Given the description of an element on the screen output the (x, y) to click on. 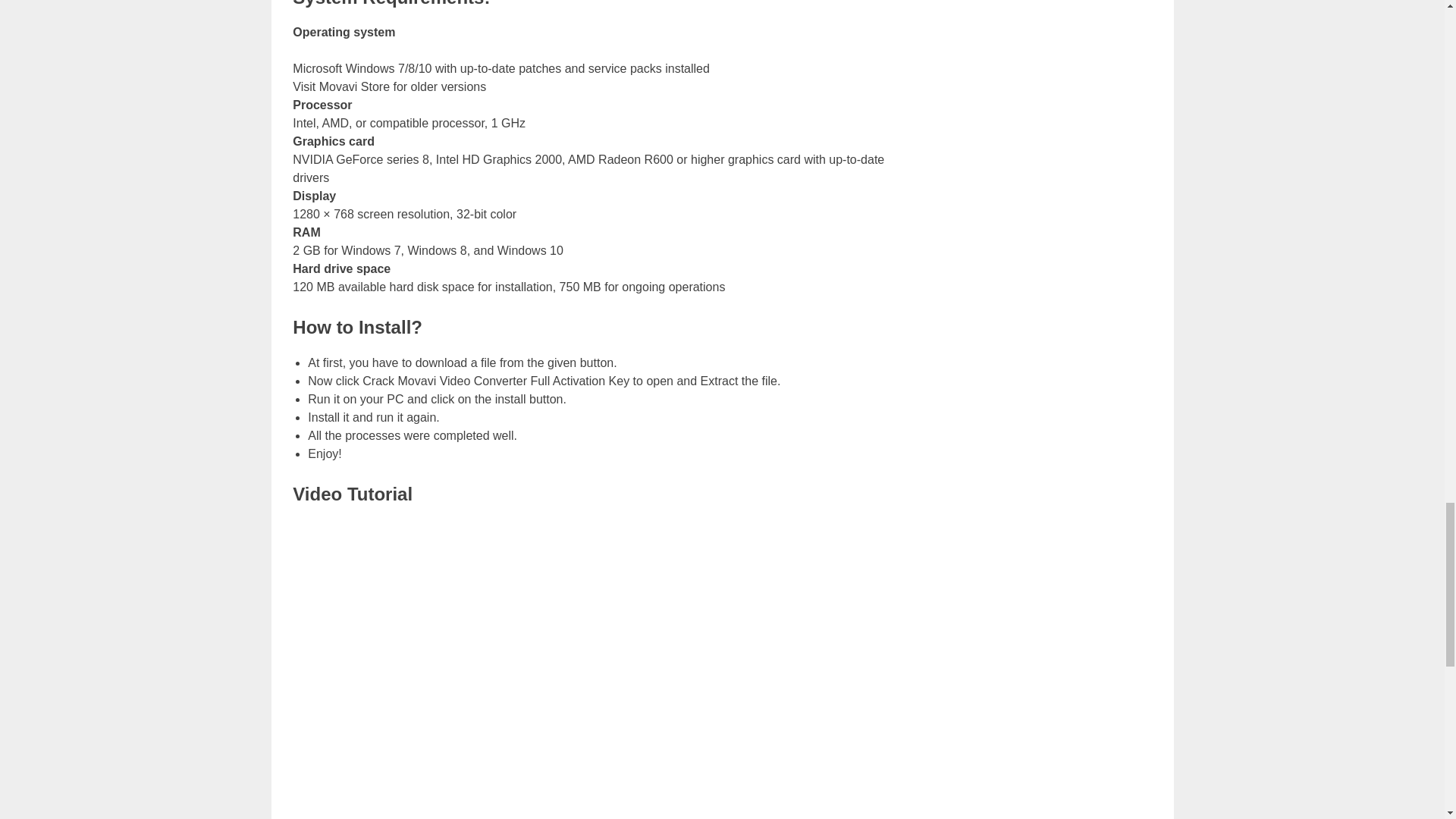
YouTube video player (599, 656)
